Given the description of an element on the screen output the (x, y) to click on. 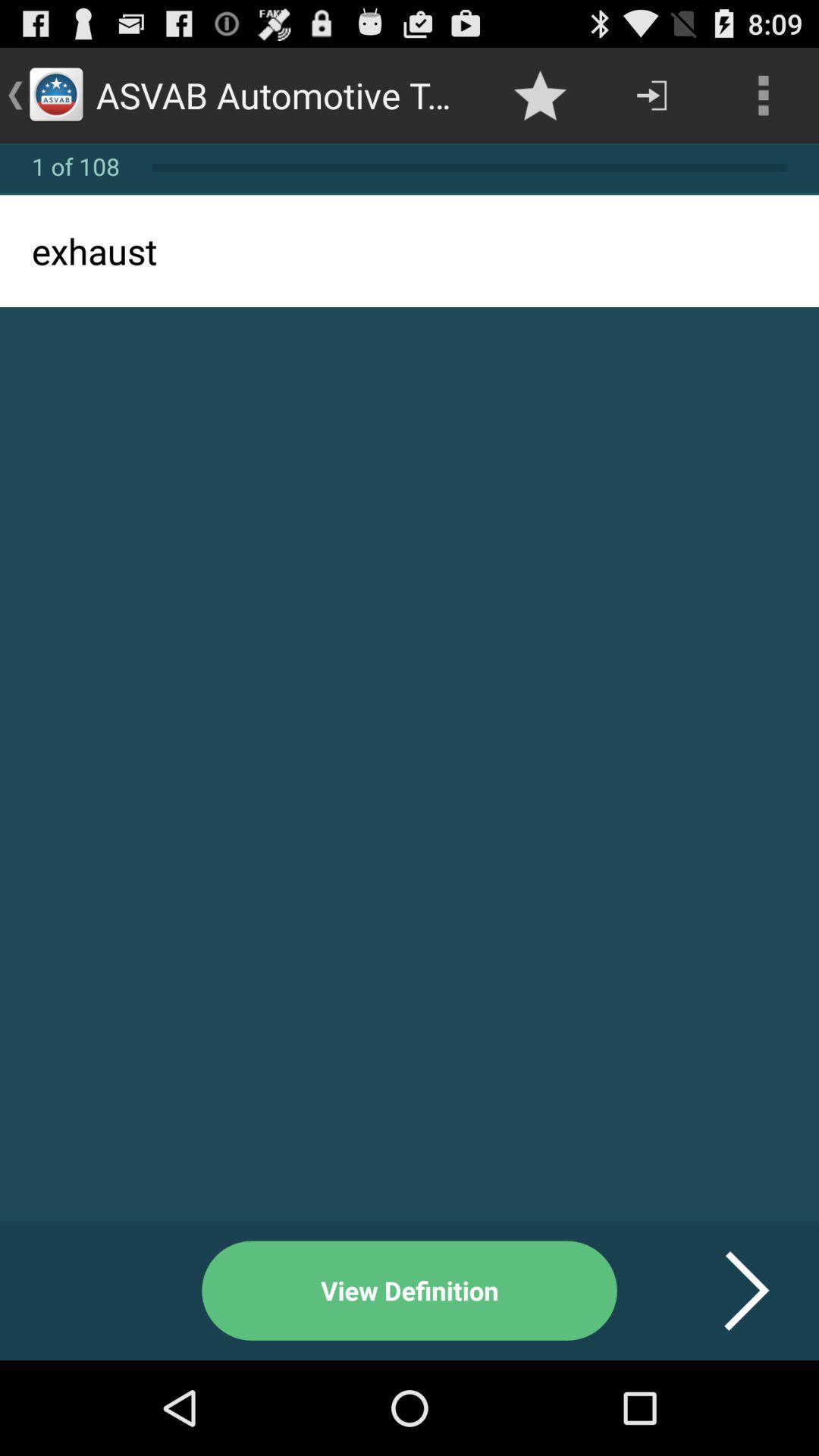
click the icon next to the view definition item (728, 1290)
